Given the description of an element on the screen output the (x, y) to click on. 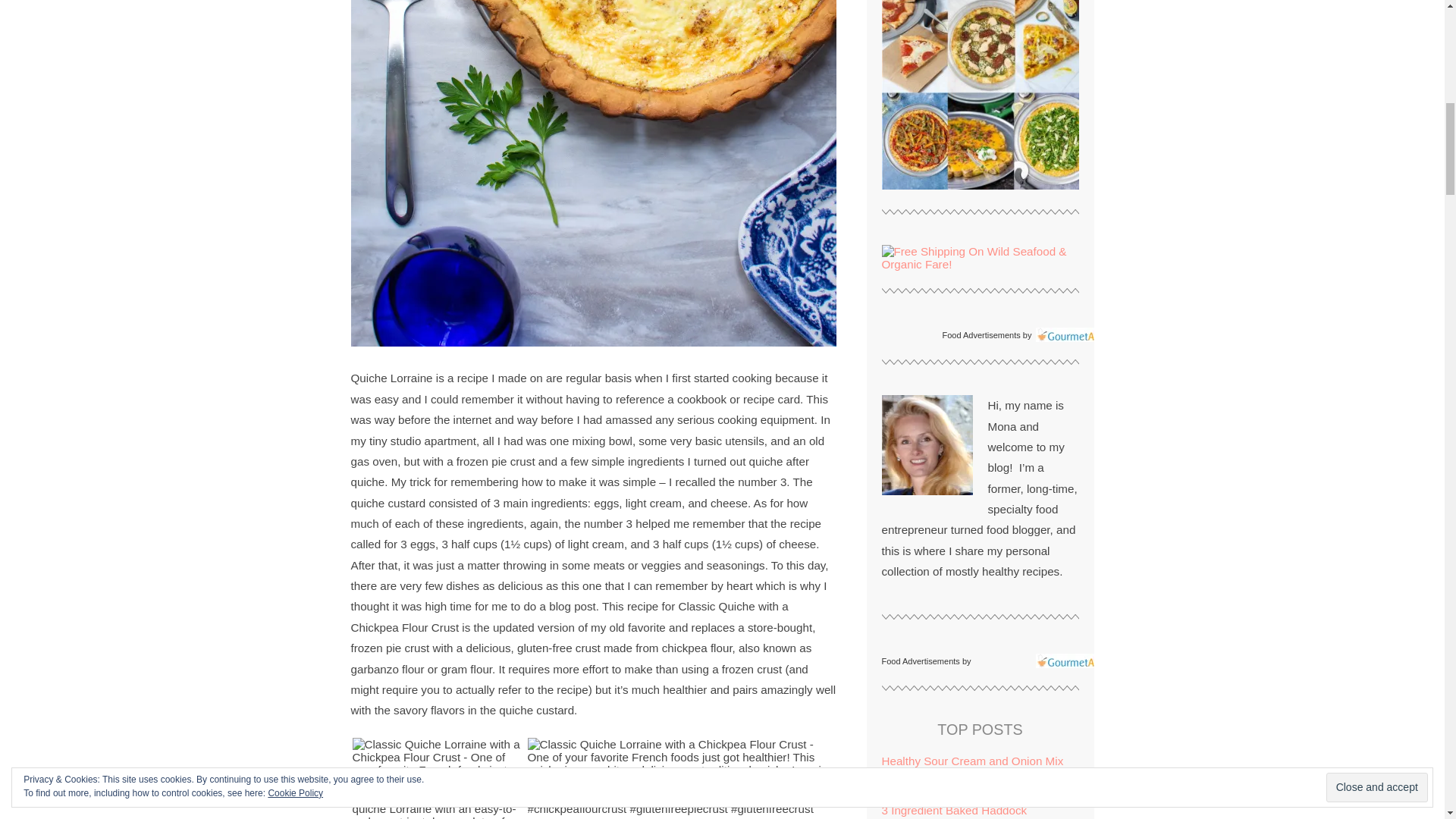
Classic Quiche Lorraine with Chickpea Flour Crust (438, 778)
Classic Quiche Lorraine with Chickpea Flour Crust (680, 775)
